Given the description of an element on the screen output the (x, y) to click on. 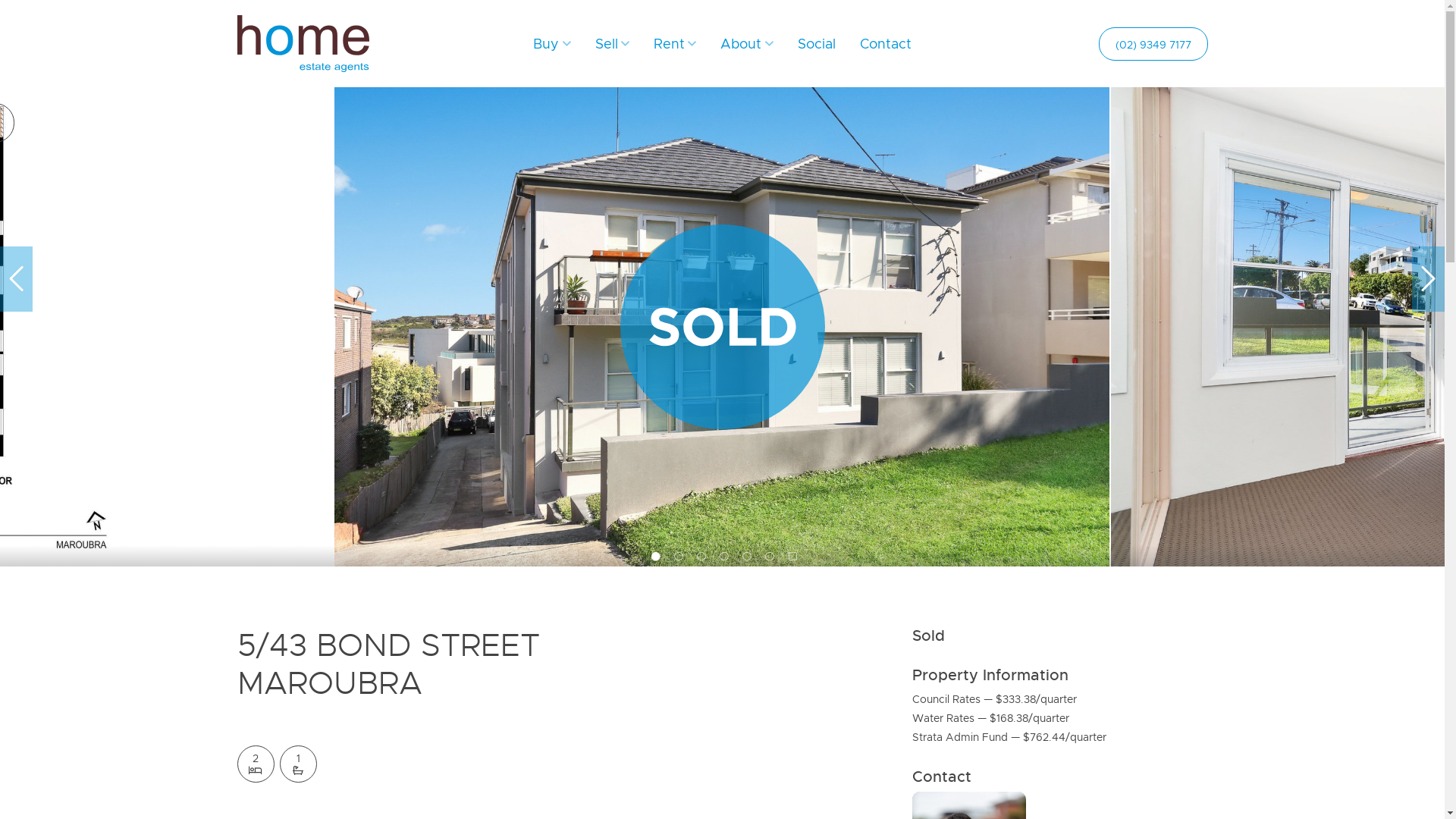
Rent Element type: text (674, 43)
(02) 9349 7177 Element type: text (1152, 43)
About Element type: text (746, 43)
< Element type: text (16, 278)
Sell Element type: text (612, 43)
Contact Element type: text (885, 43)
Buy Element type: text (551, 43)
Social Element type: text (816, 43)
> Element type: text (1428, 278)
